Given the description of an element on the screen output the (x, y) to click on. 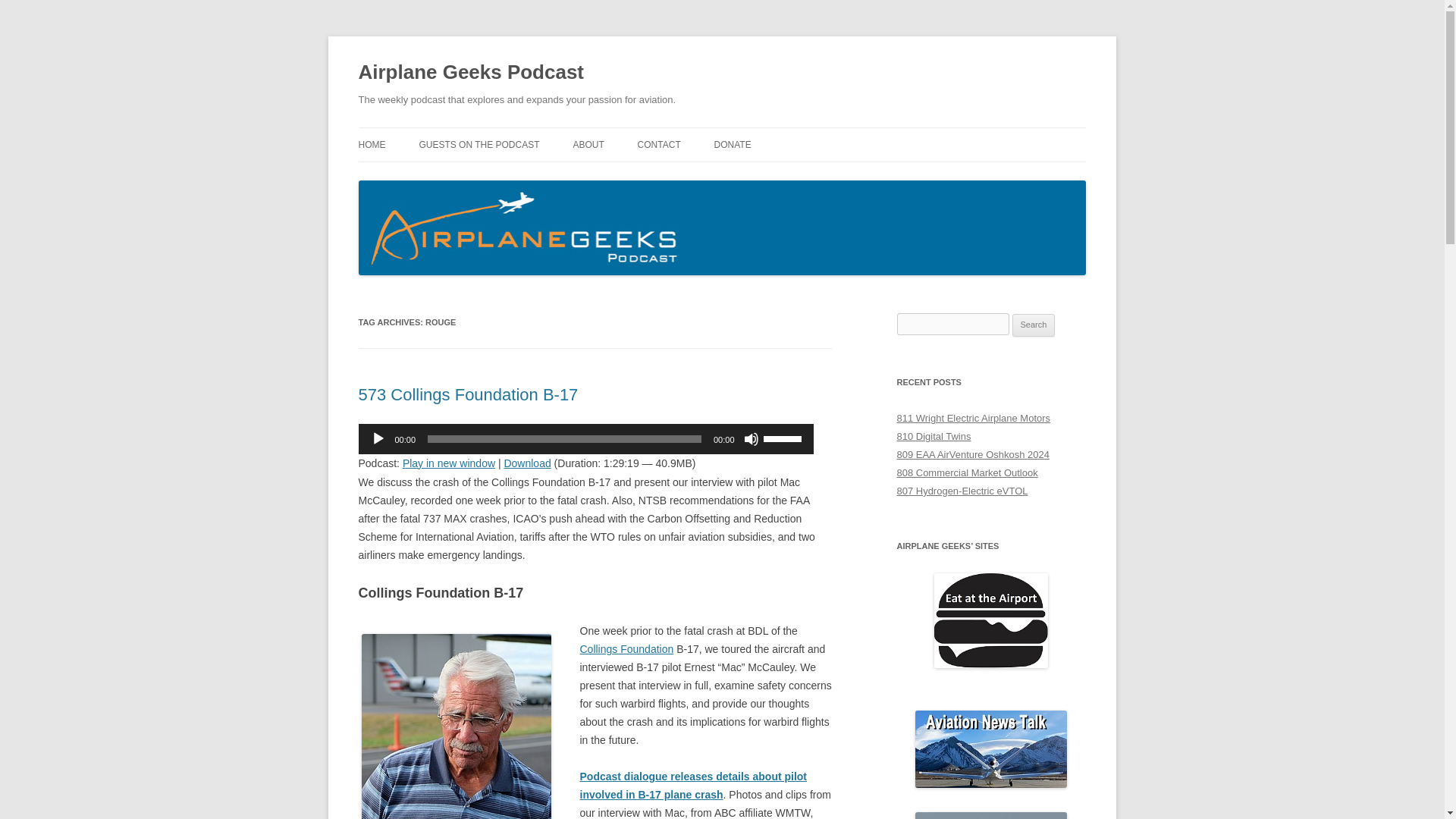
Download (526, 463)
How to contact the Airplane Geeks (659, 144)
Search (1033, 324)
DONATE (732, 144)
573 Collings Foundation B-17 (468, 394)
Download (526, 463)
ABOUT (588, 144)
GUESTS ON THE PODCAST (478, 144)
